Given the description of an element on the screen output the (x, y) to click on. 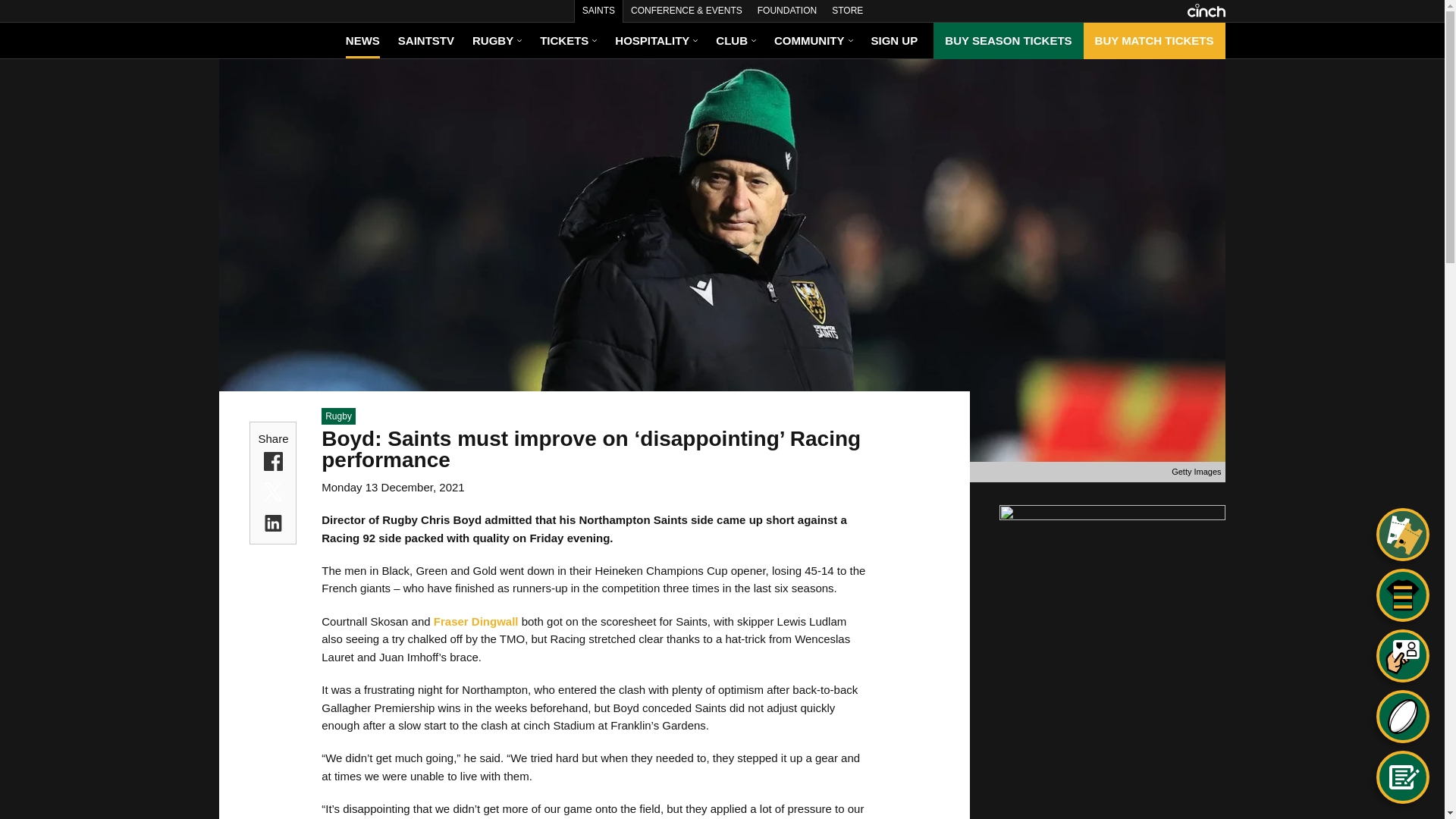
STORE (847, 11)
FOUNDATION (786, 11)
SAINTS (598, 11)
